Given the description of an element on the screen output the (x, y) to click on. 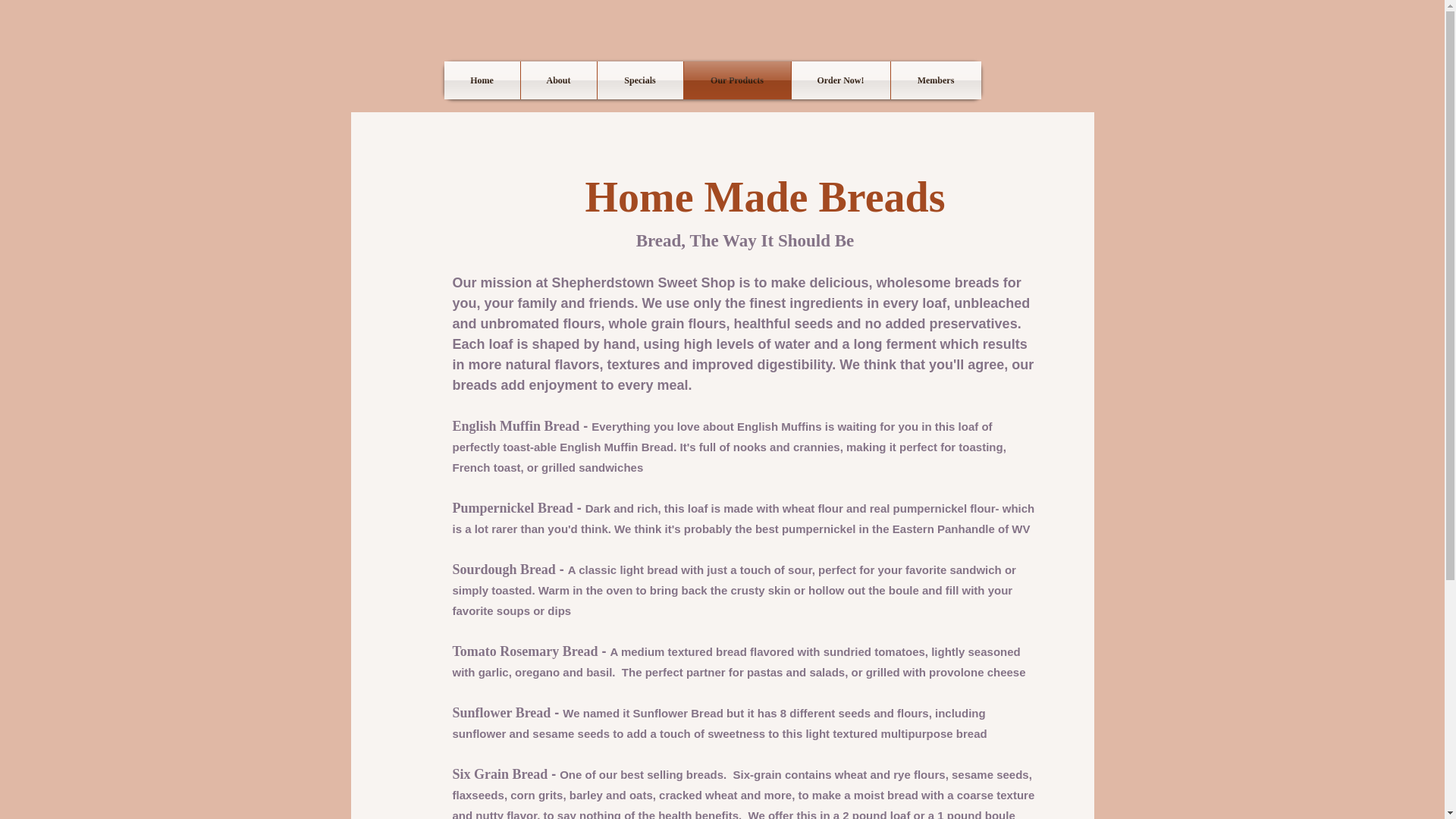
Specials (639, 80)
Home (481, 80)
Our Products (737, 80)
About (557, 80)
